Given the description of an element on the screen output the (x, y) to click on. 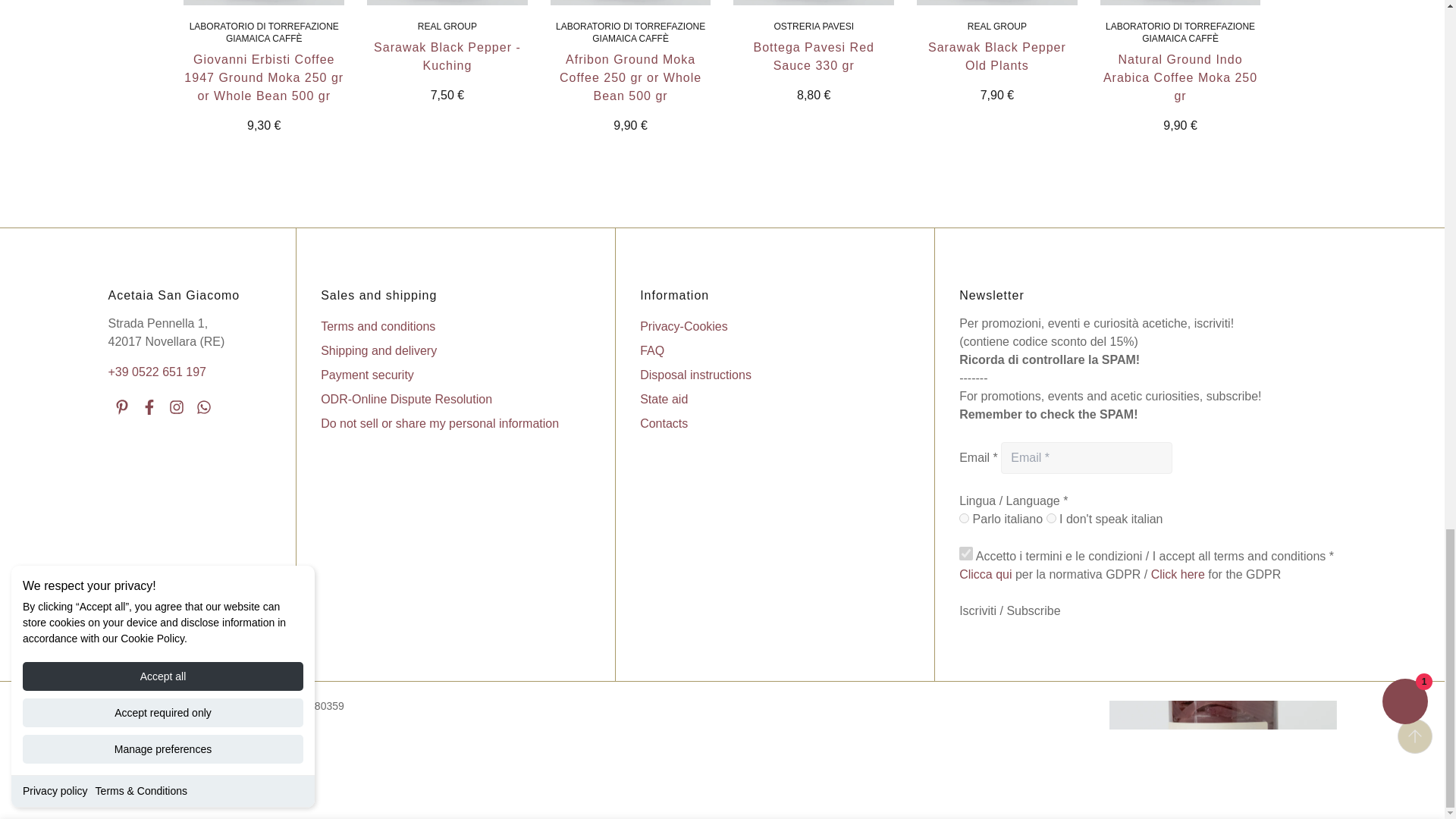
1142 (965, 553)
1158 (964, 518)
1160 (1051, 518)
